Given the description of an element on the screen output the (x, y) to click on. 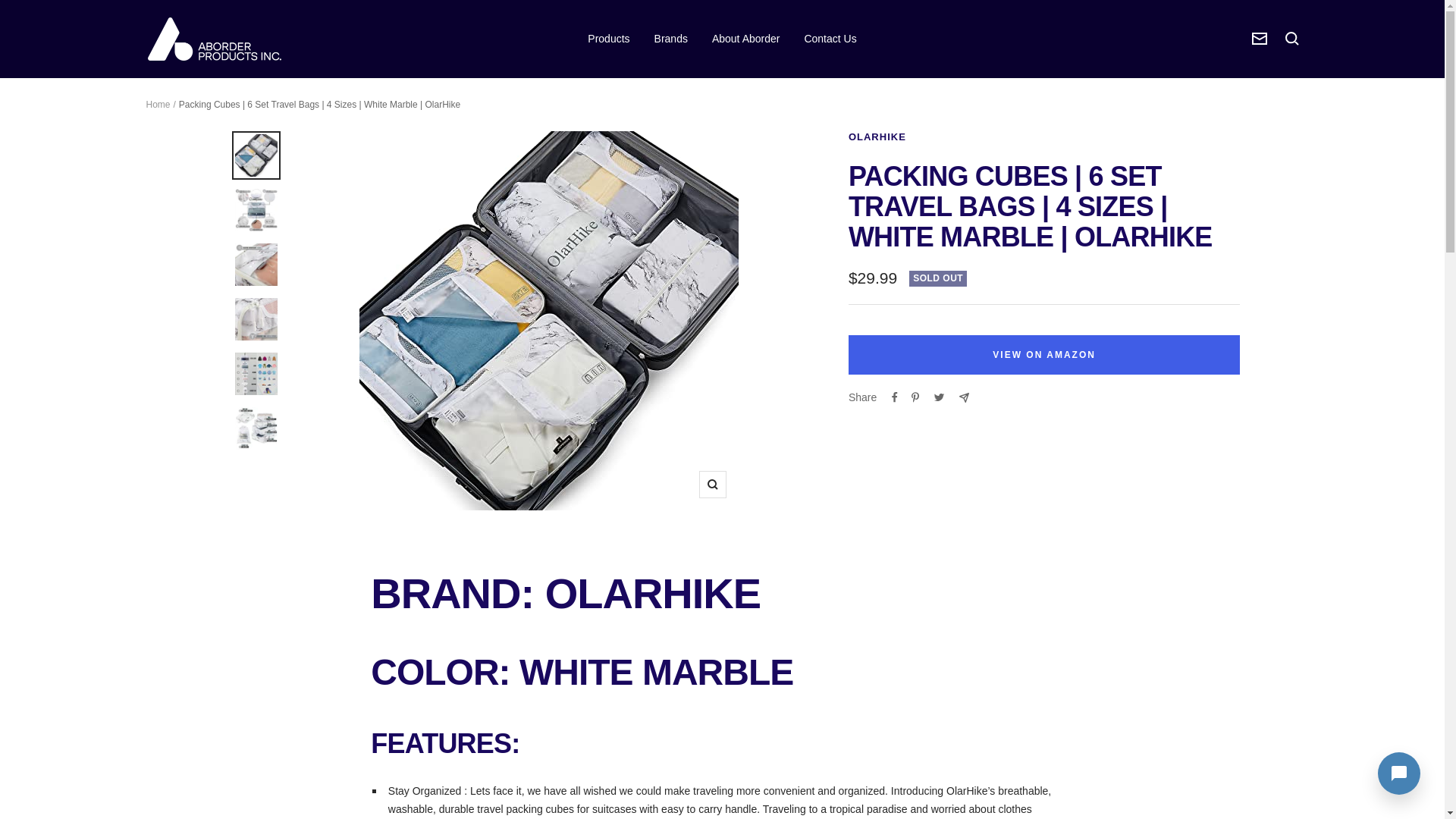
OLARHIKE (876, 136)
aborderproducts (213, 38)
VIEW ON AMAZON (1044, 354)
About Aborder (745, 38)
Products (608, 38)
Brands (670, 38)
Home (157, 103)
Newsletter (1258, 38)
Contact Us (829, 38)
Zoom (712, 483)
